Given the description of an element on the screen output the (x, y) to click on. 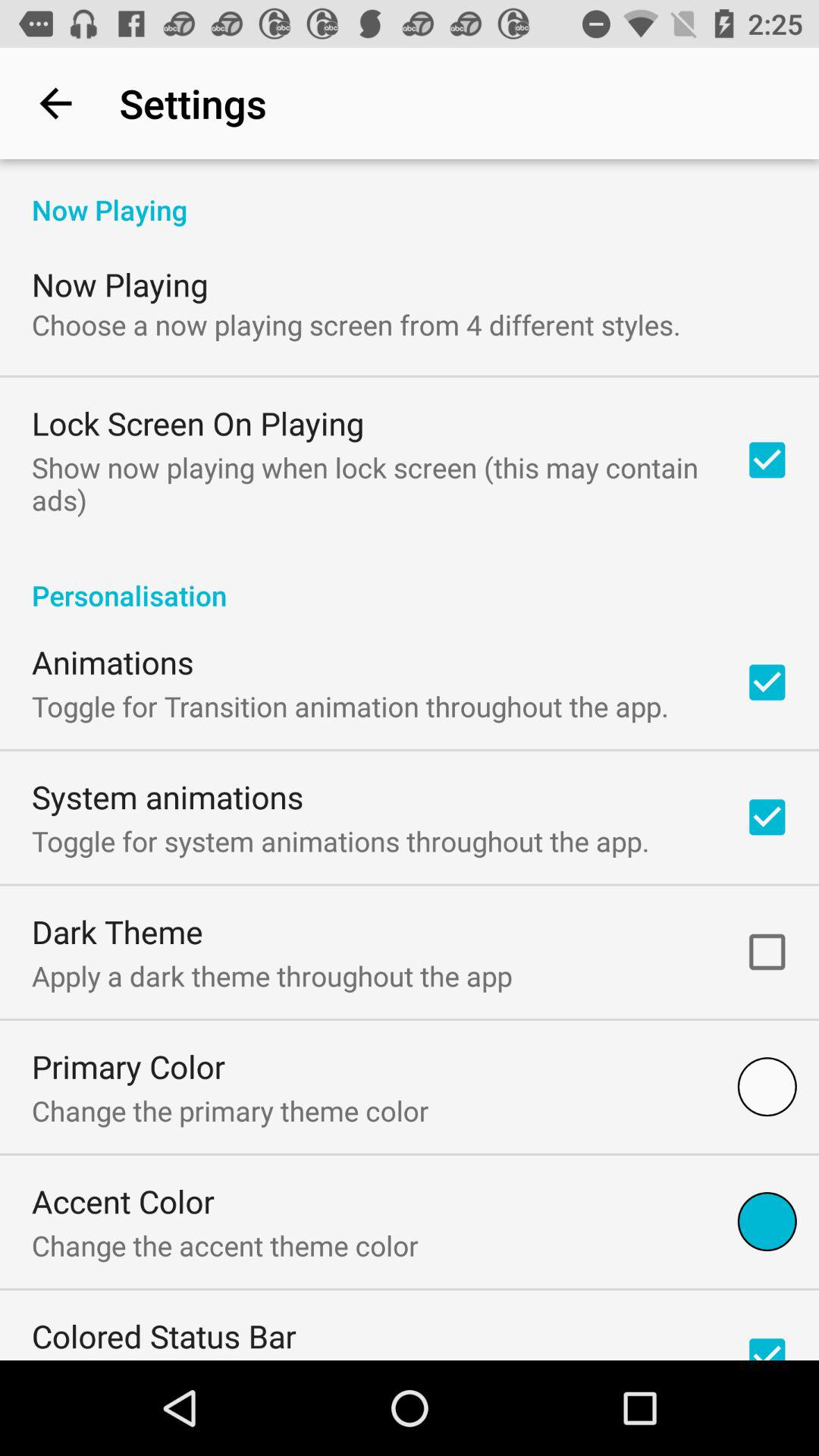
jump to apply a dark (271, 975)
